Given the description of an element on the screen output the (x, y) to click on. 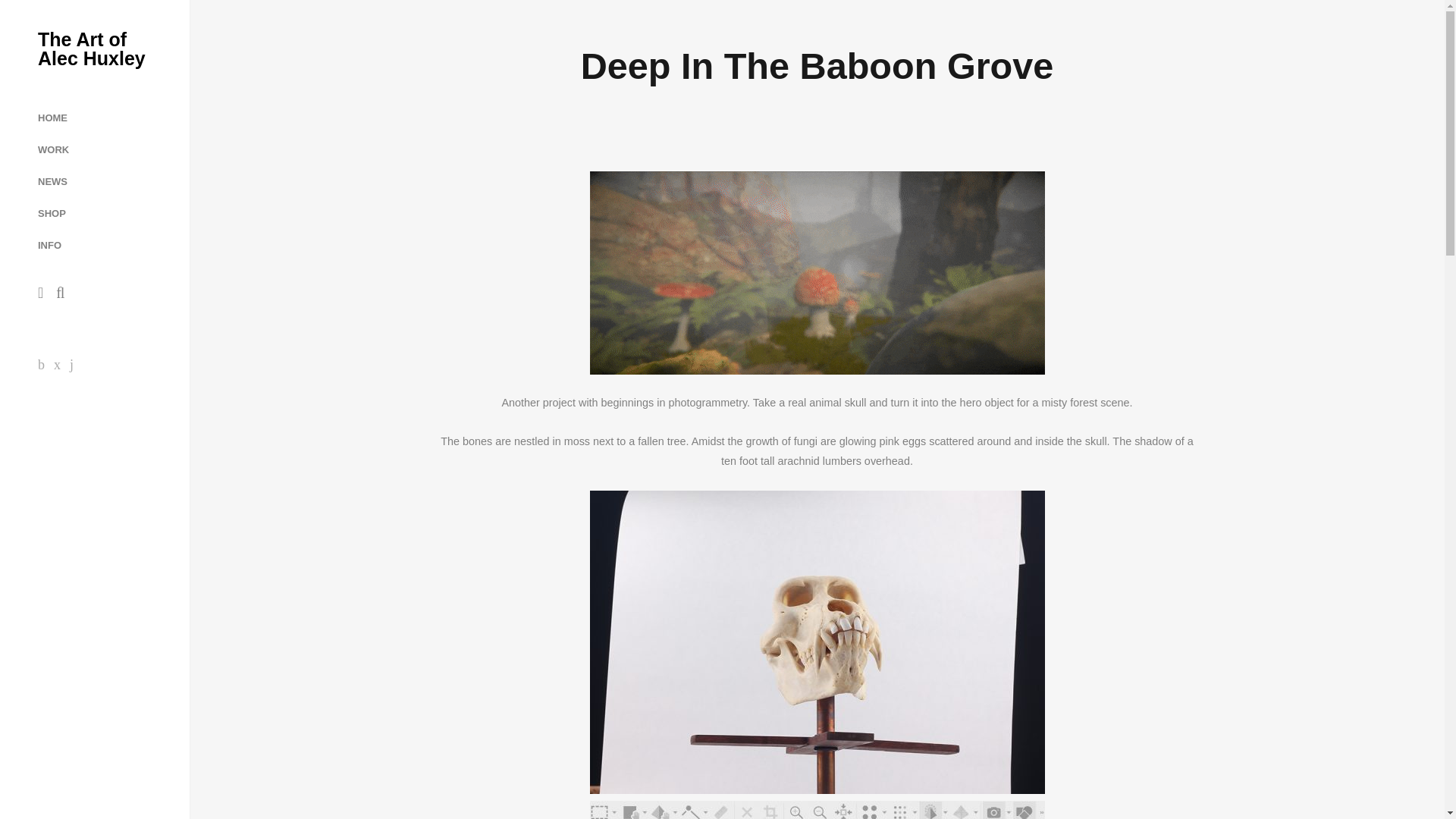
WORK (53, 150)
The Art of Alec Huxley (94, 48)
HOME (52, 118)
